Given the description of an element on the screen output the (x, y) to click on. 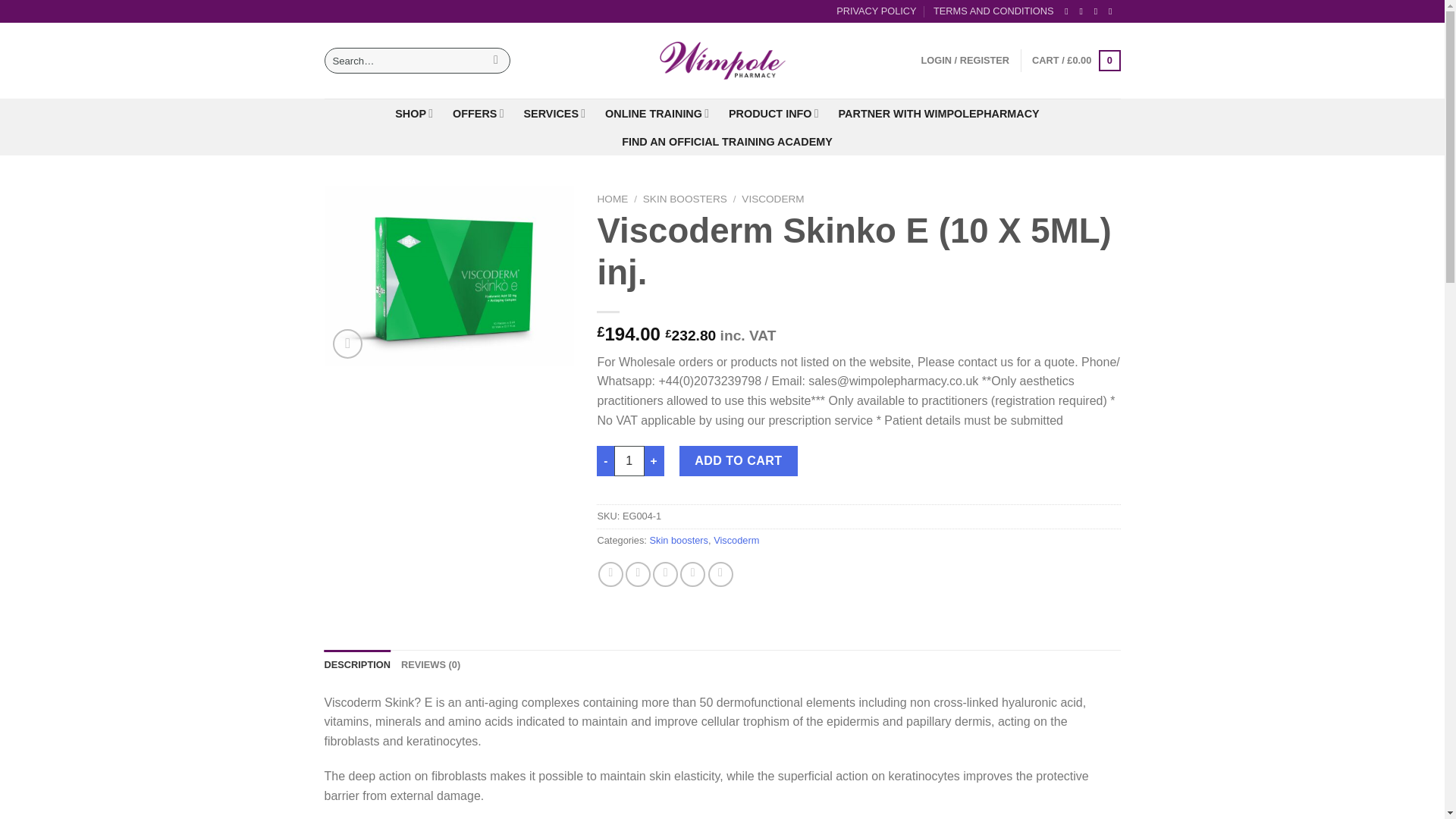
1 (629, 460)
Zoom (347, 343)
Cart (1075, 60)
Search (495, 60)
PRIVACY POLICY (876, 11)
Share on Facebook (610, 574)
Wimpole Pharmacy - One-stop pharmacy for aesthetics supplies (722, 60)
TERMS AND CONDITIONS (993, 11)
Share on Twitter (638, 574)
SHOP (413, 112)
